Given the description of an element on the screen output the (x, y) to click on. 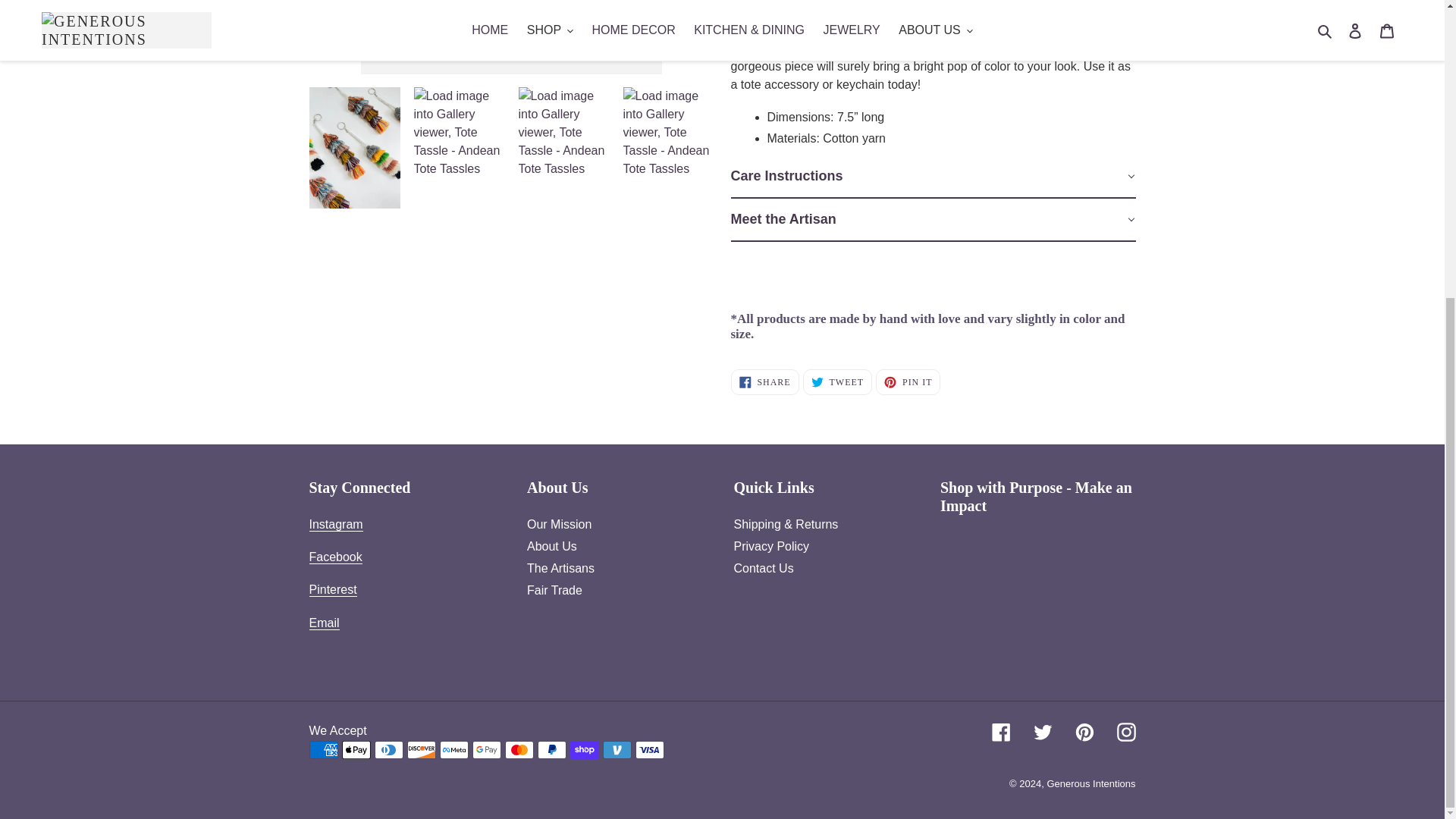
Apple Pay (354, 750)
PayPal (551, 750)
Diners Club (388, 750)
Mastercard (519, 750)
Discover (420, 750)
Venmo (616, 750)
American Express (322, 750)
Meta Pay (453, 750)
Google Pay (485, 750)
Visa (648, 750)
